Given the description of an element on the screen output the (x, y) to click on. 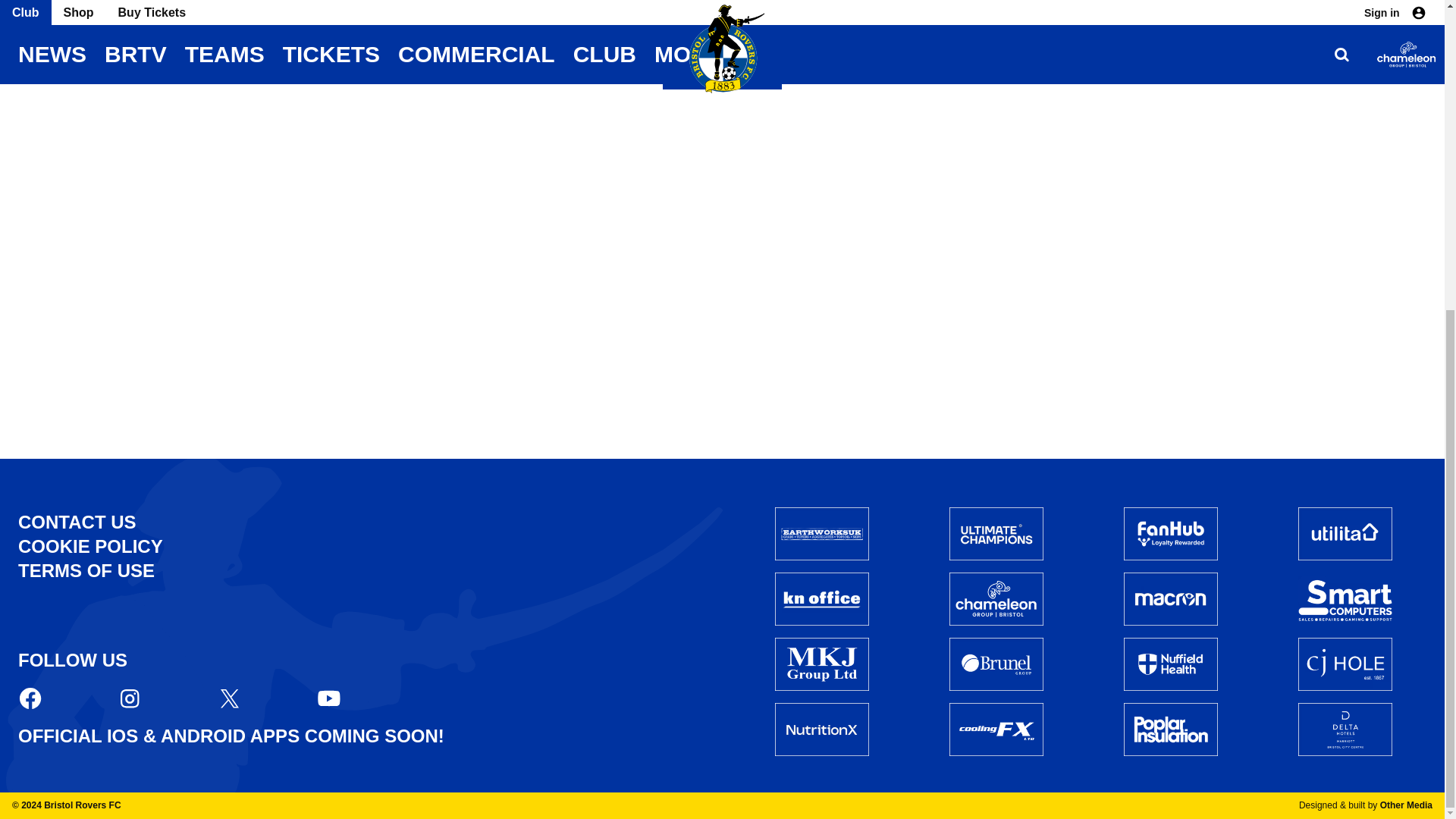
Brunel (996, 664)
Cooling FX (996, 728)
Macron (1170, 598)
Smart Computers (1344, 598)
CJ Hole (1344, 664)
Ultimate Champions (996, 533)
MKG Group (821, 664)
Chameleon Group (996, 598)
Fan Hub (1170, 533)
Earth Works (821, 533)
